Given the description of an element on the screen output the (x, y) to click on. 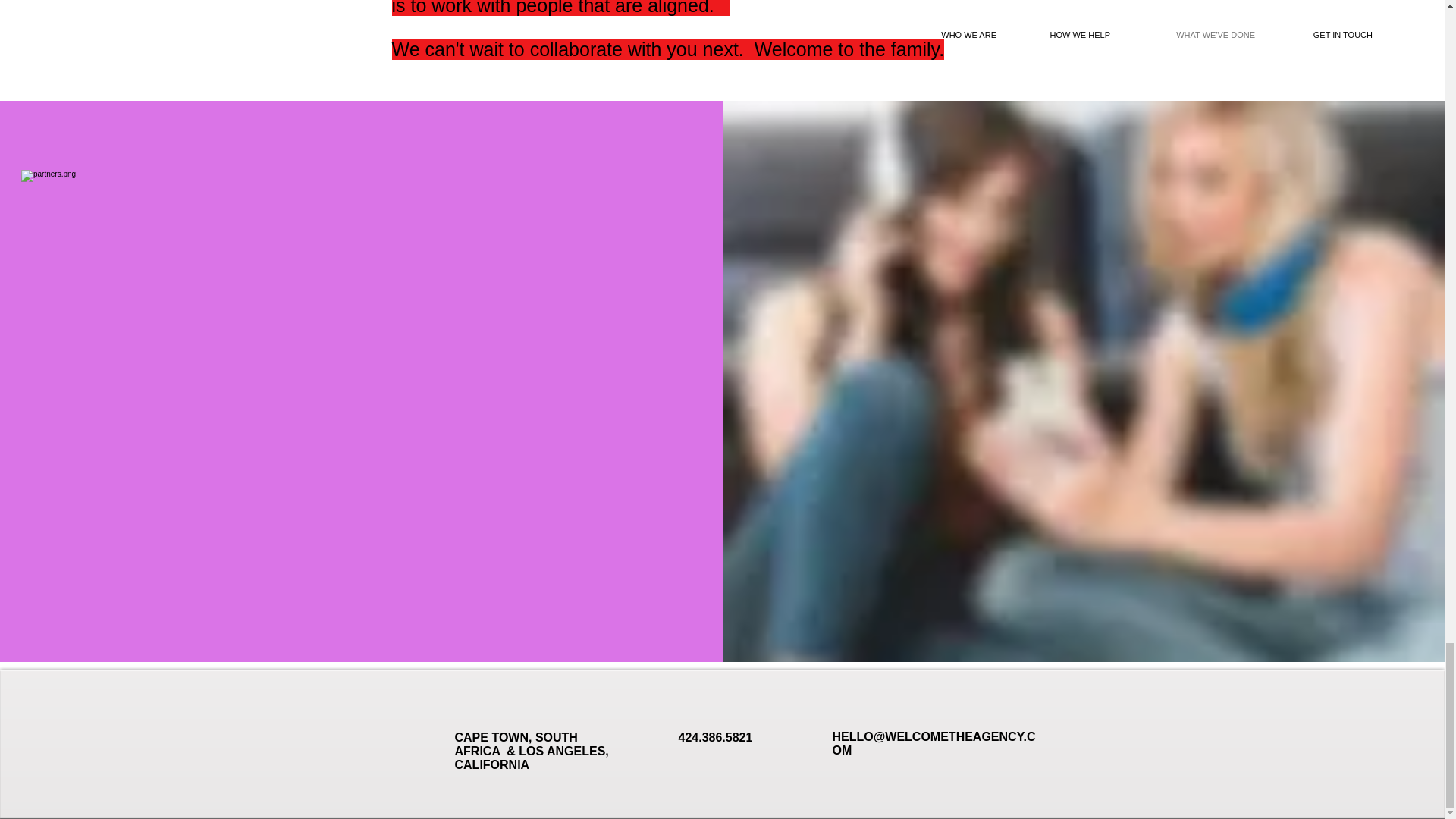
424.386.5821 (715, 737)
